Given the description of an element on the screen output the (x, y) to click on. 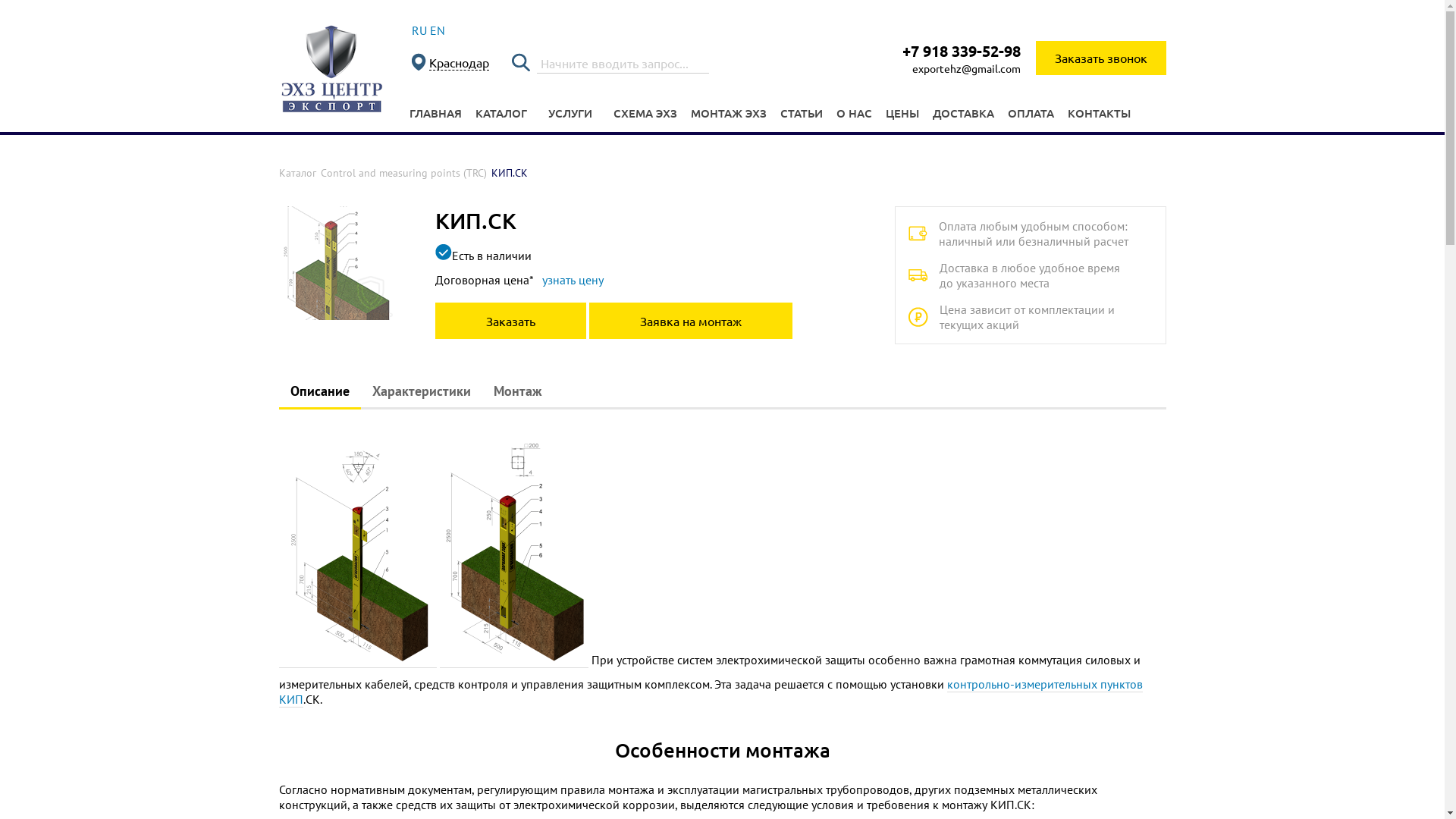
RU Element type: text (418, 29)
EN Element type: text (436, 29)
exportehz@gmail.com Element type: text (965, 68)
Control and measuring points (TRC) Element type: text (403, 172)
